Given the description of an element on the screen output the (x, y) to click on. 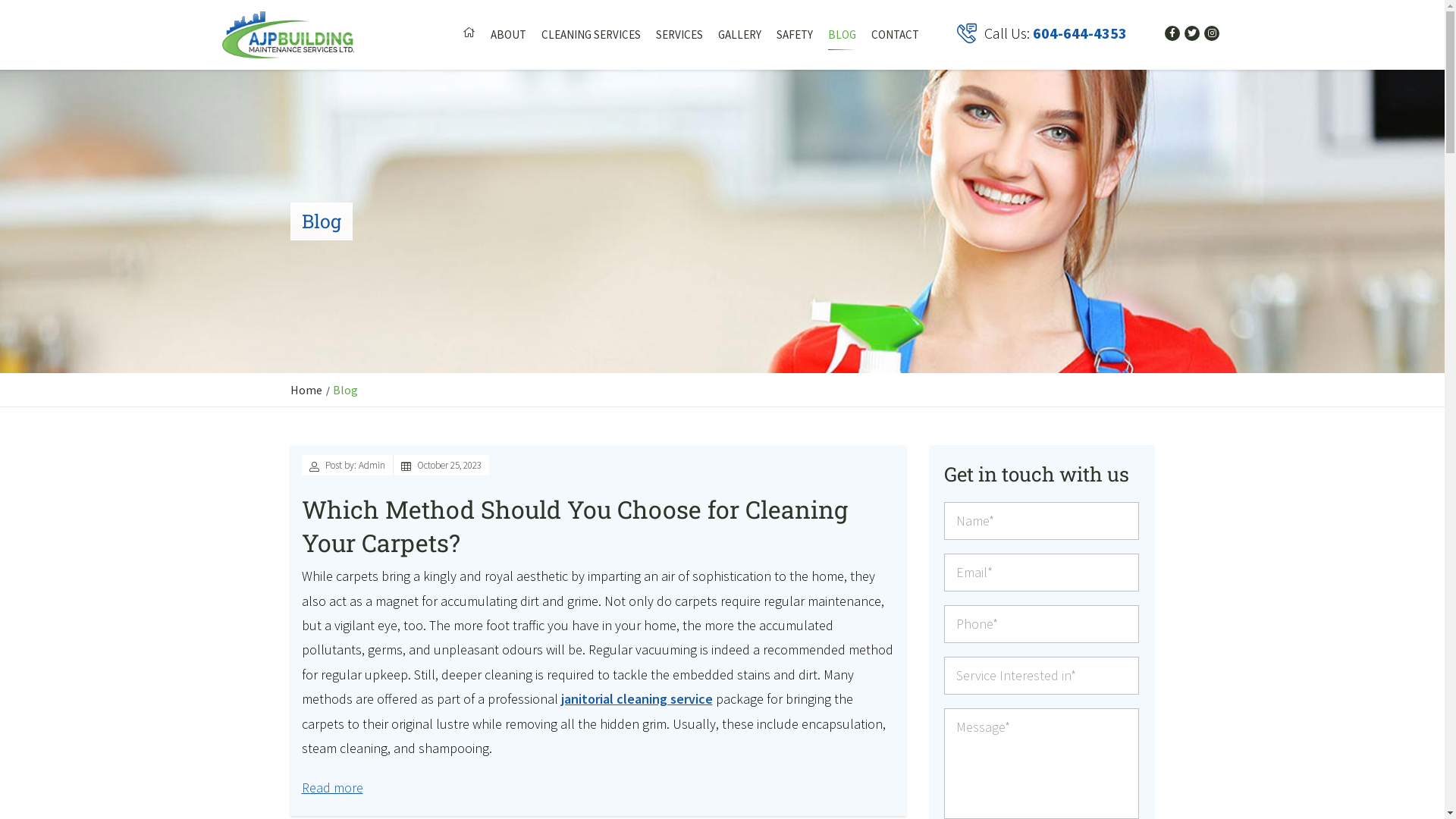
GALLERY Element type: text (739, 34)
Read more Element type: text (332, 787)
ABOUT Element type: text (508, 34)
SAFETY Element type: text (794, 34)
CONTACT Element type: text (895, 34)
CLEANING SERVICES Element type: text (590, 34)
janitorial cleaning service Element type: text (636, 698)
Home Element type: text (305, 389)
Call Us: 604-644-4353 Element type: text (1041, 33)
SERVICES Element type: text (678, 34)
BLOG Element type: text (842, 34)
Which Method Should You Choose for Cleaning Your Carpets? Element type: text (574, 525)
